Given the description of an element on the screen output the (x, y) to click on. 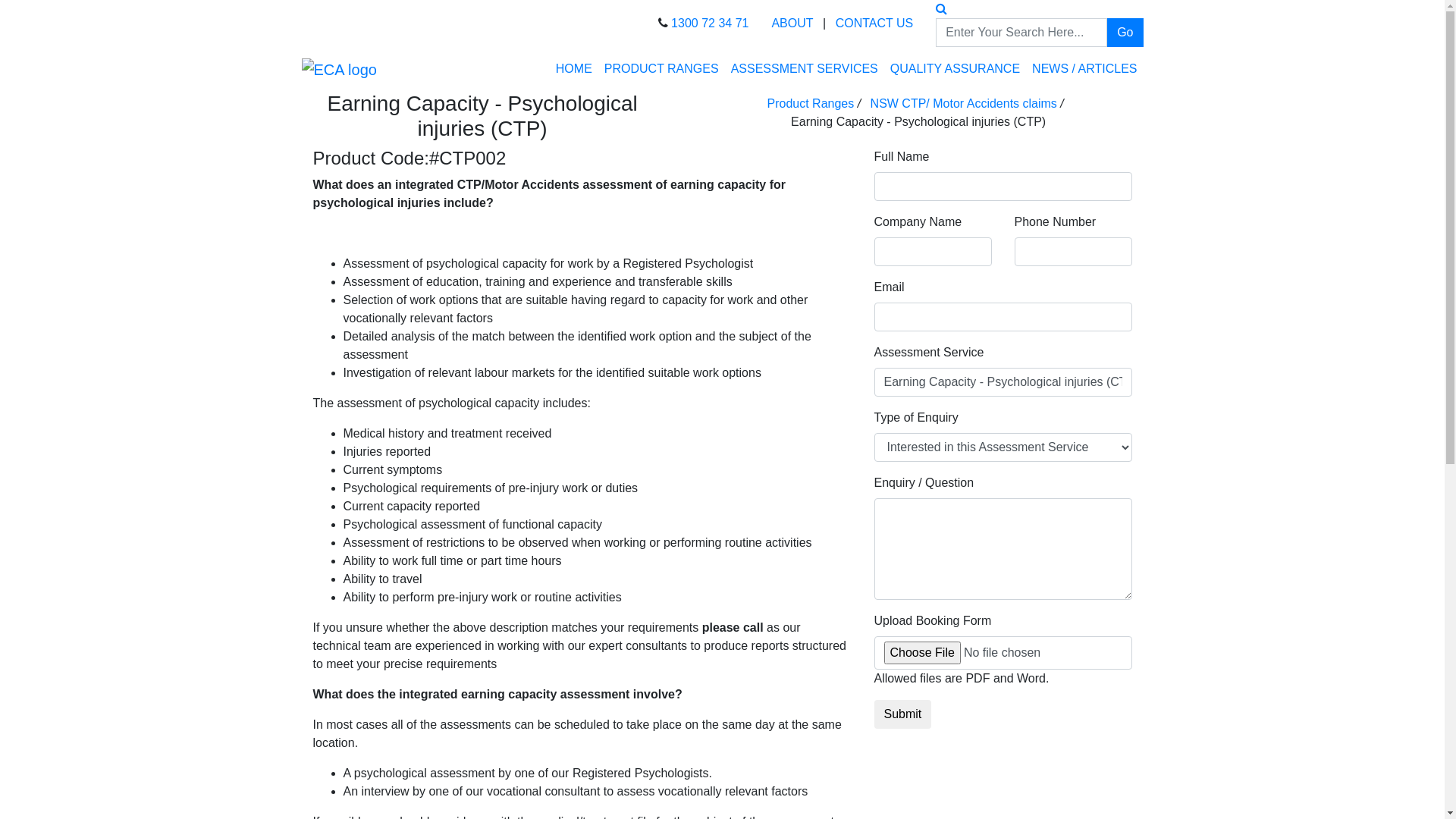
HOME Element type: text (573, 68)
Go Element type: text (1124, 32)
NEWS / ARTICLES Element type: text (1084, 68)
1300 72 34 71 Element type: text (709, 22)
Product Ranges Element type: text (809, 103)
ASSESSMENT SERVICES Element type: text (804, 68)
PRODUCT RANGES Element type: text (661, 68)
QUALITY ASSURANCE Element type: text (955, 68)
ABOUT Element type: text (791, 22)
CONTACT US Element type: text (874, 22)
NSW CTP/ Motor Accidents claims Element type: text (963, 103)
Submit Element type: text (902, 713)
